Given the description of an element on the screen output the (x, y) to click on. 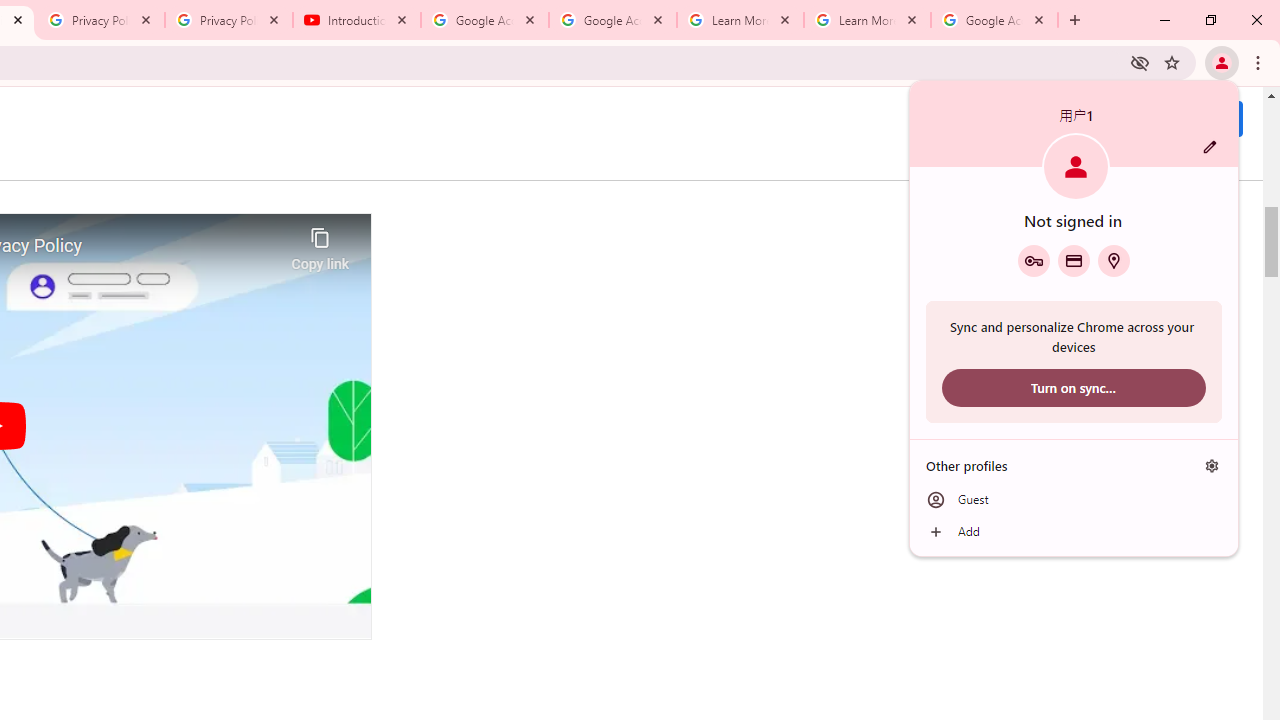
Google Account Help (613, 20)
Add (1073, 531)
Google Account Help (485, 20)
Copy link (319, 244)
Google Password Manager (1033, 260)
